Given the description of an element on the screen output the (x, y) to click on. 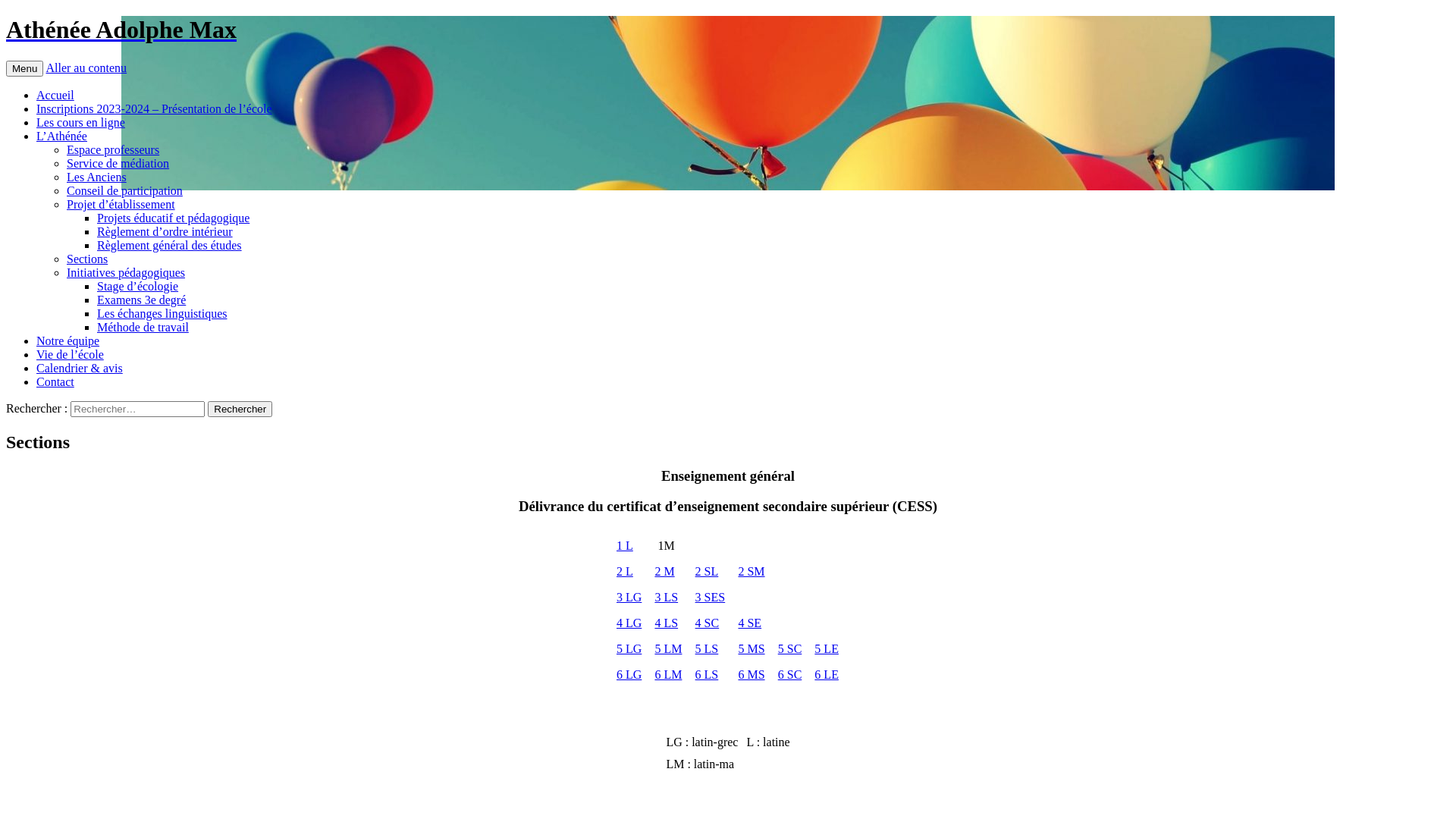
5 LE Element type: text (826, 648)
Rechercher Element type: text (239, 409)
Espace professeurs Element type: text (112, 149)
6 LM Element type: text (667, 674)
1 L Element type: text (624, 545)
4 SE Element type: text (749, 622)
5 SC Element type: text (790, 648)
4 LG Element type: text (628, 622)
6 MS Element type: text (750, 674)
Menu Element type: text (24, 68)
Les Anciens Element type: text (96, 176)
3 LS Element type: text (665, 596)
4 SC Element type: text (707, 622)
2 SL Element type: text (706, 570)
6 LG Element type: text (628, 674)
Les cours en ligne Element type: text (80, 122)
6 LE Element type: text (826, 674)
3 SES Element type: text (710, 596)
3 LG Element type: text (628, 596)
Accueil Element type: text (55, 94)
2 M Element type: text (664, 570)
5 LG Element type: text (628, 648)
5 MS Element type: text (750, 648)
Conseil de participation Element type: text (124, 190)
5 LS Element type: text (706, 648)
2 SM Element type: text (750, 570)
Calendrier & avis Element type: text (79, 367)
6 LS Element type: text (706, 674)
Contact Element type: text (55, 381)
Aller au contenu Element type: text (85, 67)
6 SC Element type: text (790, 674)
2 L Element type: text (624, 570)
5 LM Element type: text (667, 648)
4 LS Element type: text (665, 622)
Sections Element type: text (86, 258)
